Given the description of an element on the screen output the (x, y) to click on. 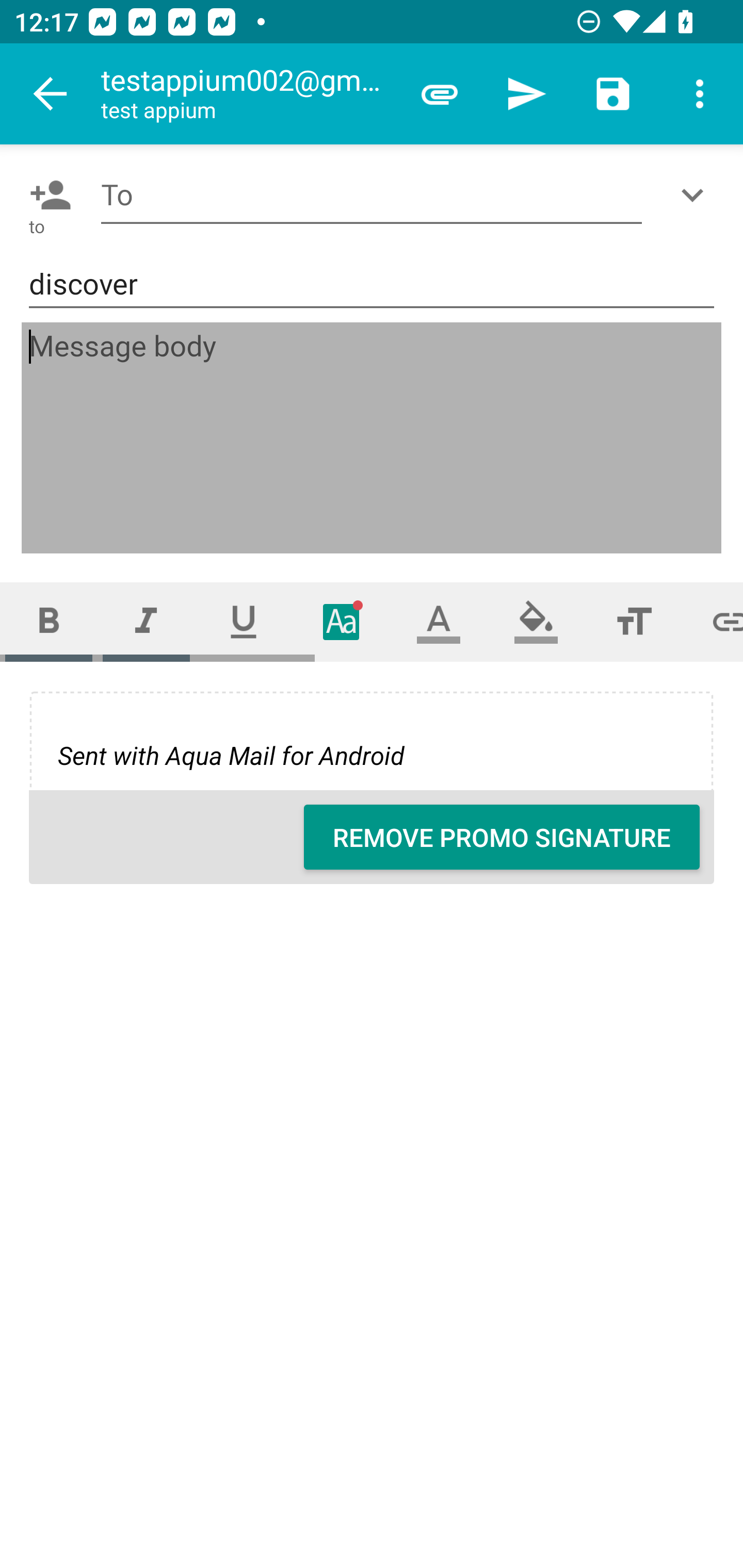
Navigate up (50, 93)
testappium002@gmail.com test appium (248, 93)
Attach (439, 93)
Send (525, 93)
Save (612, 93)
More options (699, 93)
Pick contact: To (46, 195)
Show/Add CC/BCC (696, 195)
To (371, 195)
discover (371, 284)
Message body (372, 438)
Bold (48, 621)
Italic (145, 621)
Underline (243, 621)
Typeface (font) (341, 621)
Text color (438, 621)
Fill color (536, 621)
Font size (633, 621)
Set link (712, 621)
REMOVE PROMO SIGNATURE (501, 837)
